Given the description of an element on the screen output the (x, y) to click on. 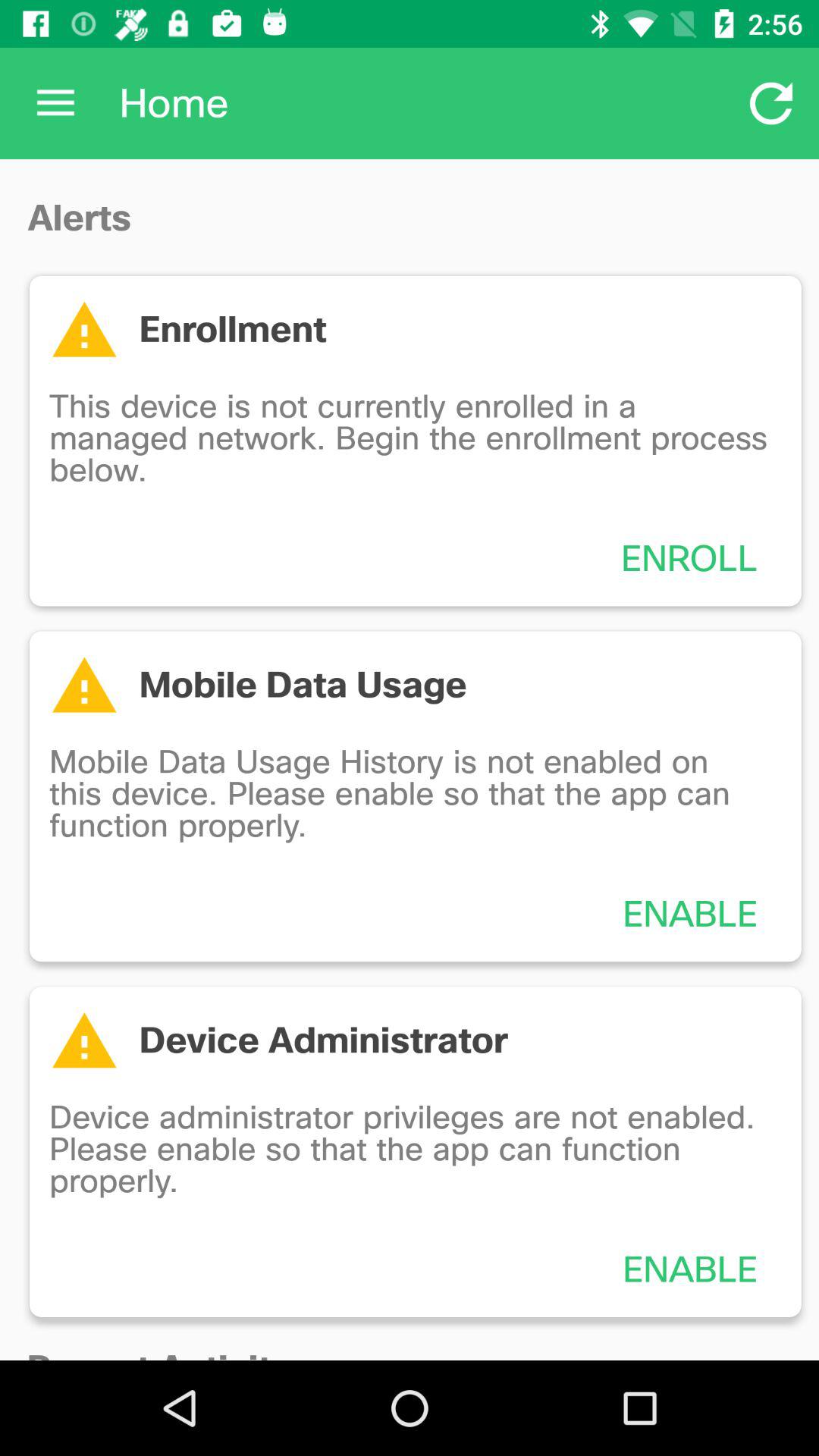
press item above mobile data usage item (689, 558)
